Given the description of an element on the screen output the (x, y) to click on. 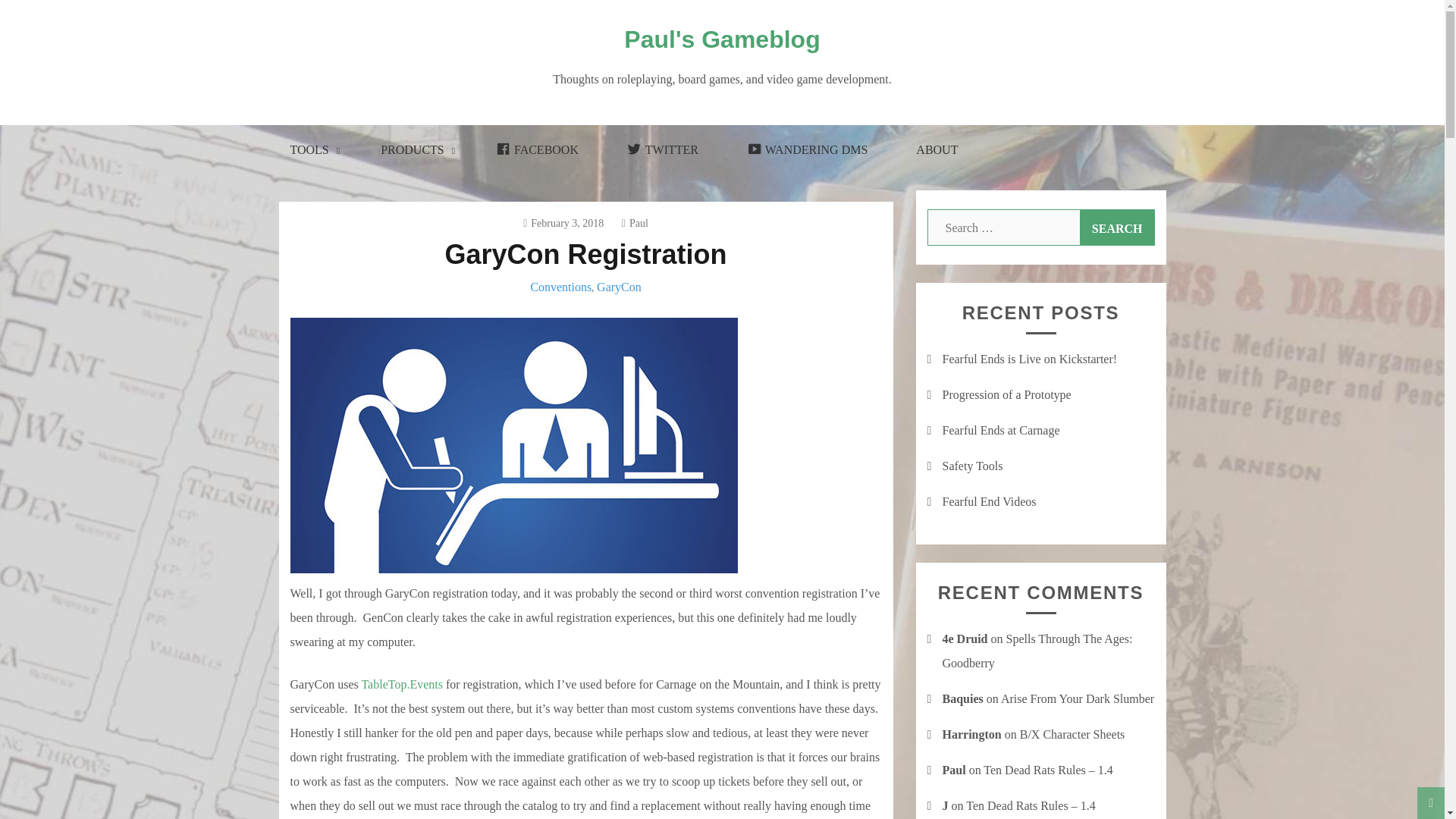
FACEBOOK (537, 150)
PRODUCTS (414, 150)
TWITTER (662, 150)
February 3, 2018 (563, 223)
Search (1117, 227)
GaryCon (619, 286)
Conventions (560, 286)
Paul's Gameblog (721, 39)
TOOLS (310, 150)
Search (1117, 227)
WANDERING DMS (806, 150)
Paul (634, 223)
ABOUT (936, 150)
TableTop.Events (401, 684)
